Given the description of an element on the screen output the (x, y) to click on. 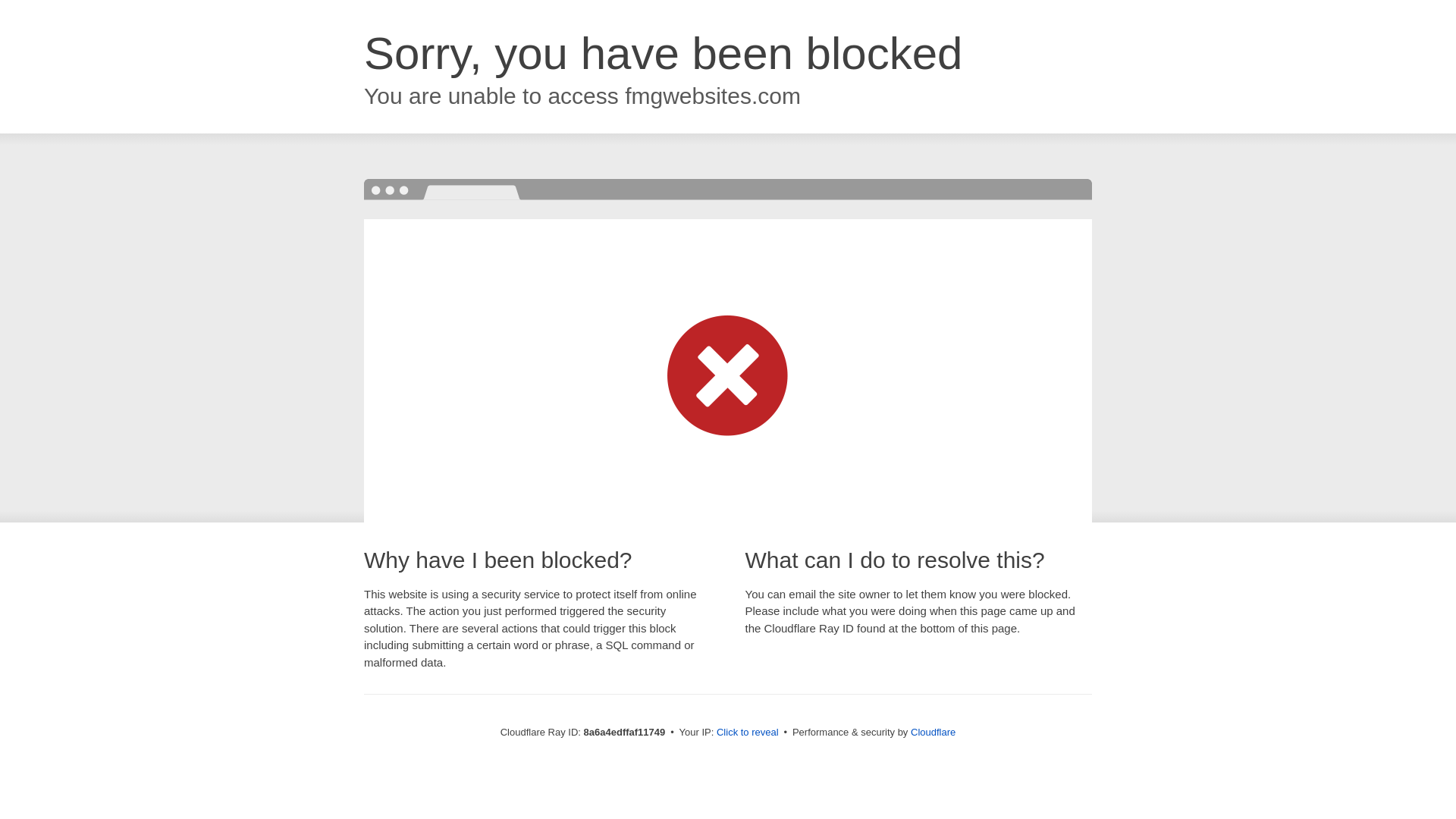
Click to reveal (747, 732)
Cloudflare (933, 731)
